Given the description of an element on the screen output the (x, y) to click on. 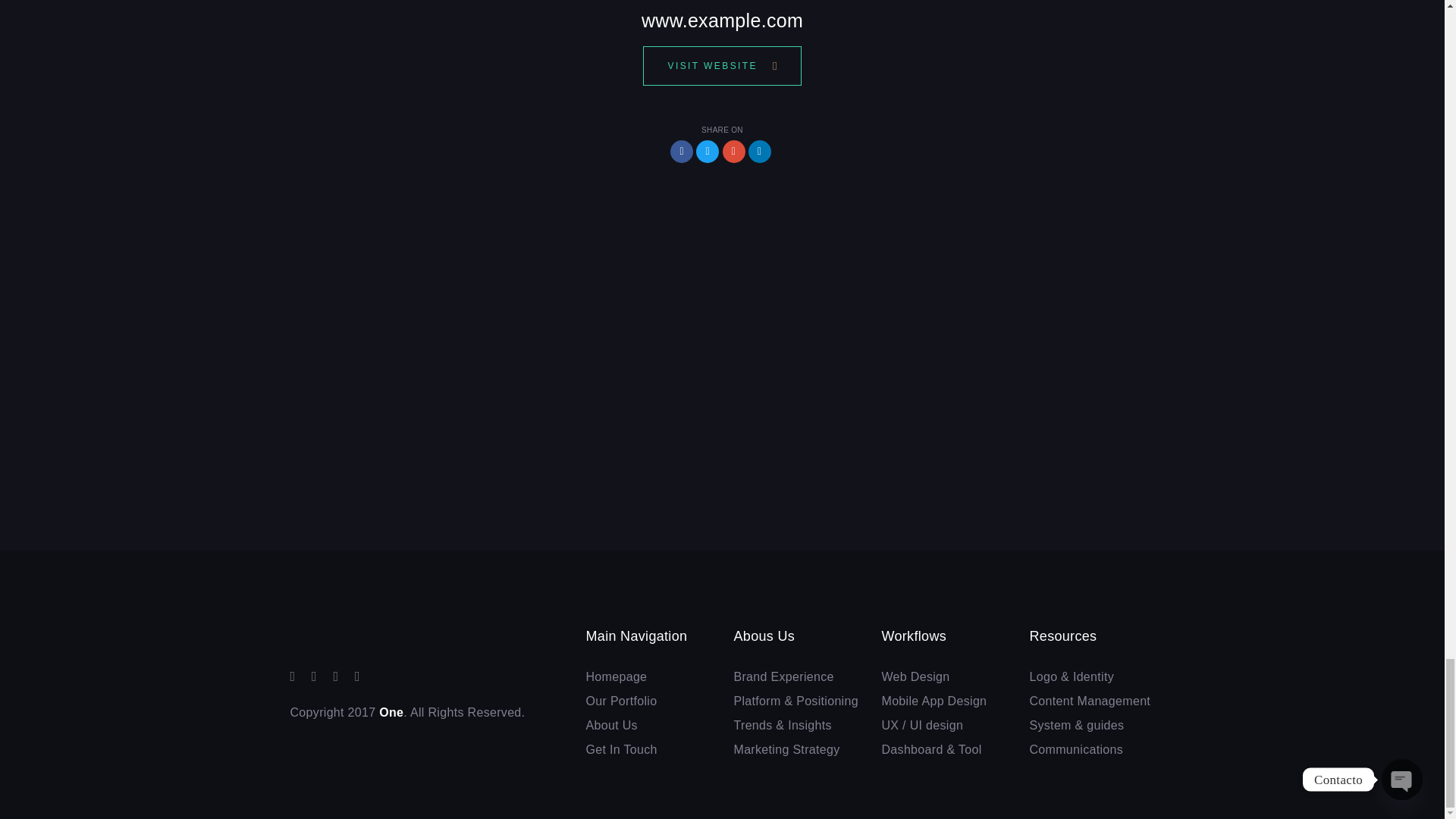
Brand Experience (796, 677)
Get In Touch (647, 749)
Mobile App Design (943, 701)
Our Portfolio (647, 701)
Communications (1091, 749)
Homepage (647, 677)
